Given the description of an element on the screen output the (x, y) to click on. 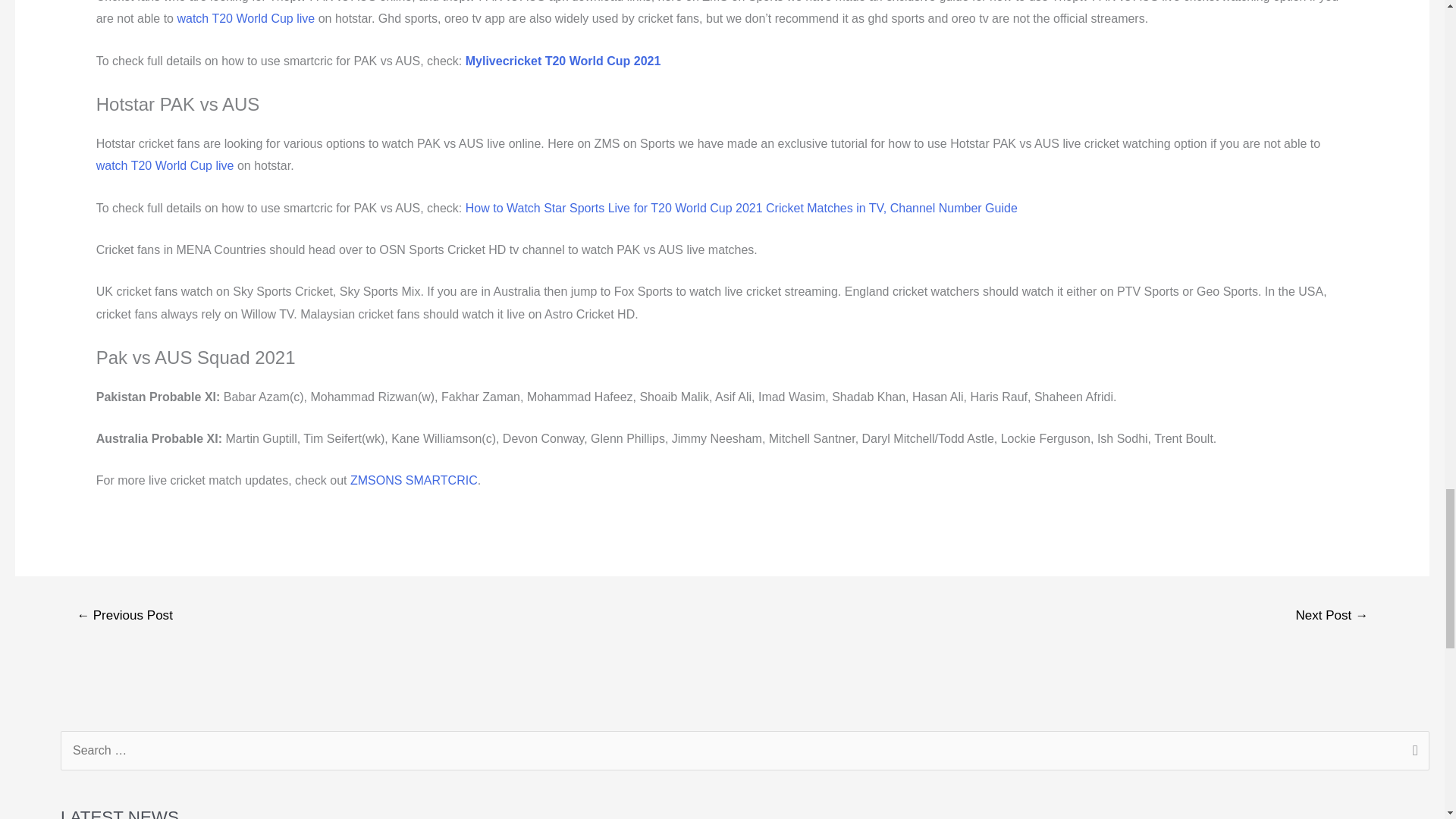
Mylivecricket T20 World Cup 2021 (563, 60)
watch T20 World Cup live (165, 164)
Search (1411, 752)
Search (1411, 752)
watch T20 World Cup live (245, 18)
ZMSONS SMARTCRIC (413, 480)
Search (1411, 752)
